Given the description of an element on the screen output the (x, y) to click on. 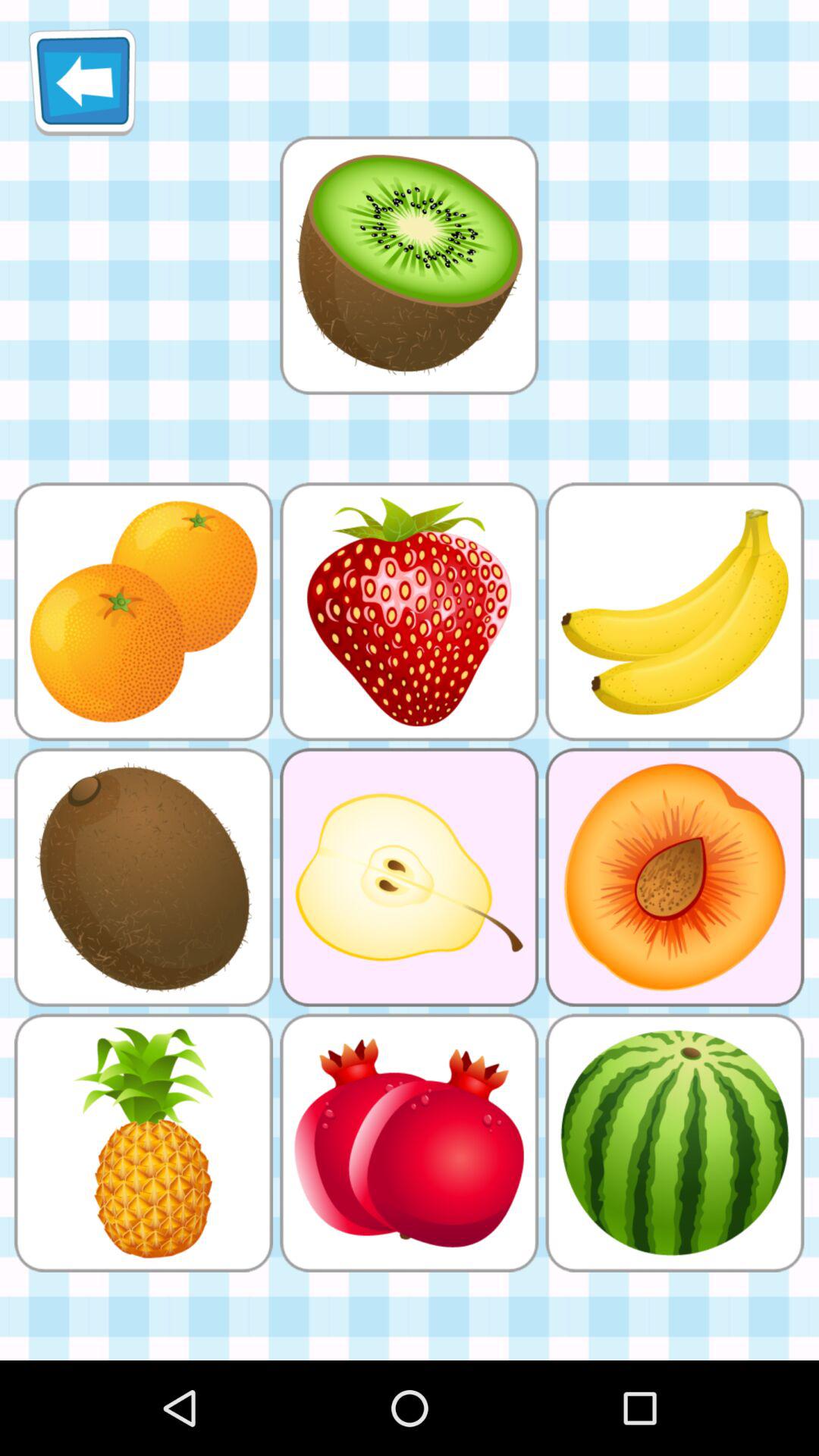
tap icon at the top left corner (82, 82)
